Given the description of an element on the screen output the (x, y) to click on. 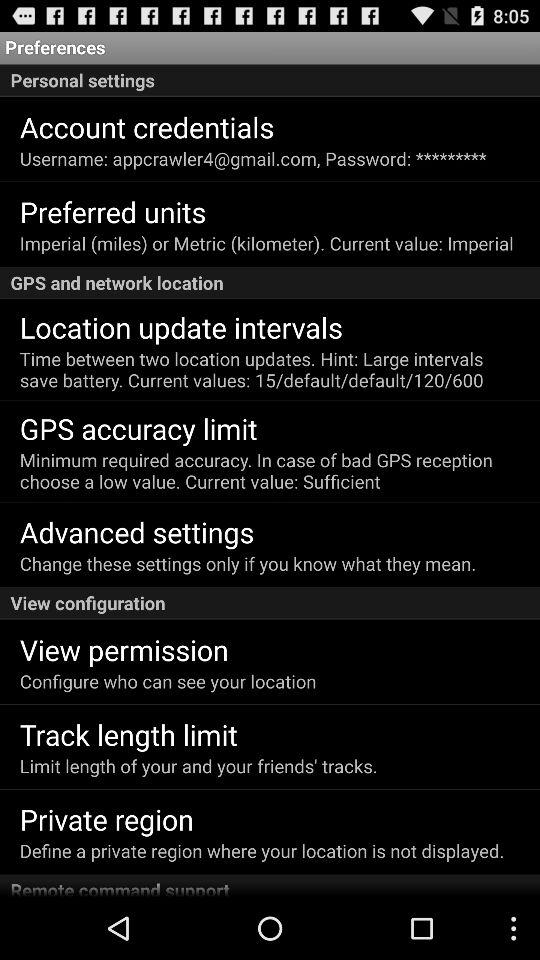
open view permission (123, 649)
